Given the description of an element on the screen output the (x, y) to click on. 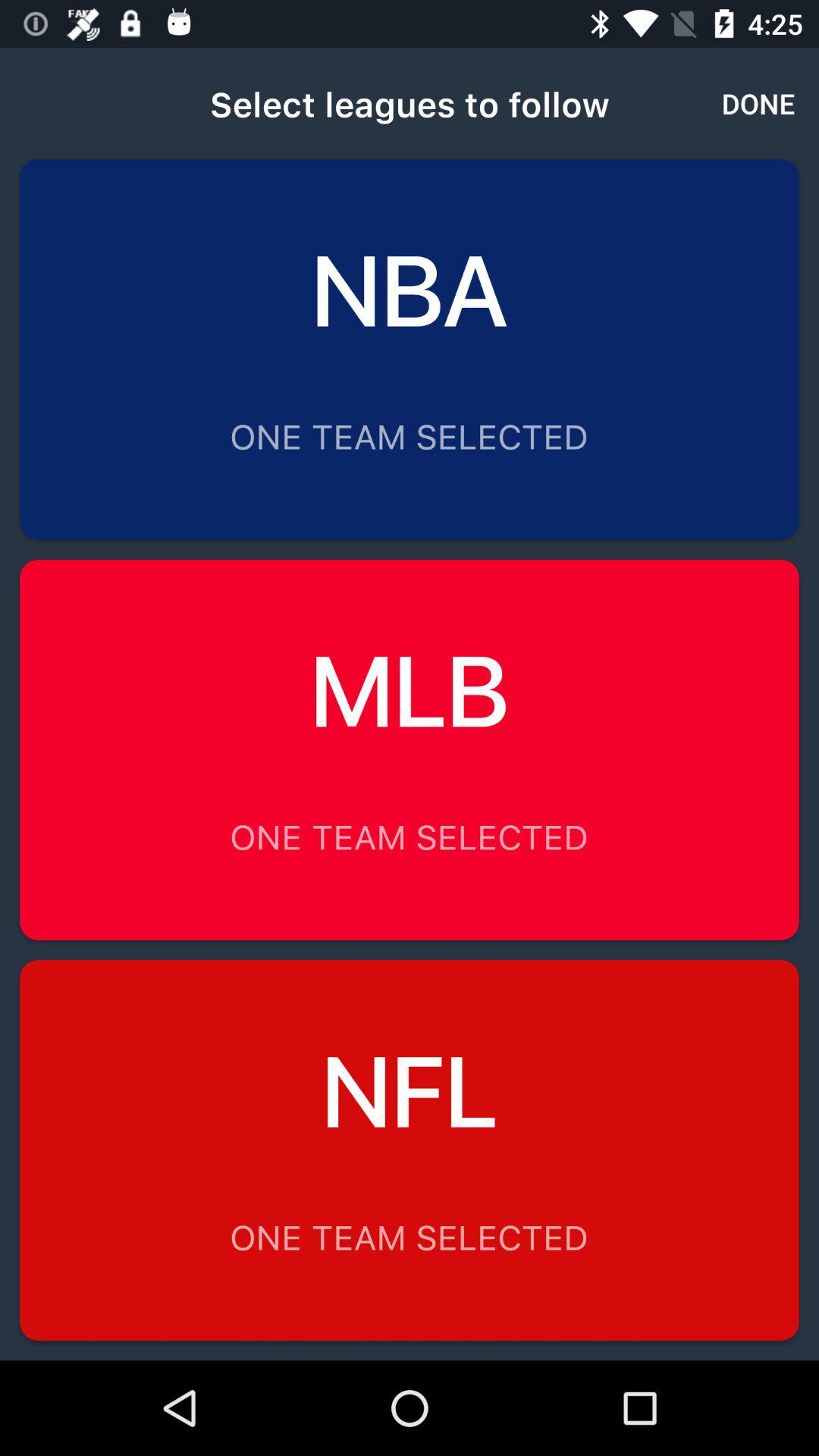
click on the box with nfl (409, 1149)
option above mlb option (409, 349)
